Given the description of an element on the screen output the (x, y) to click on. 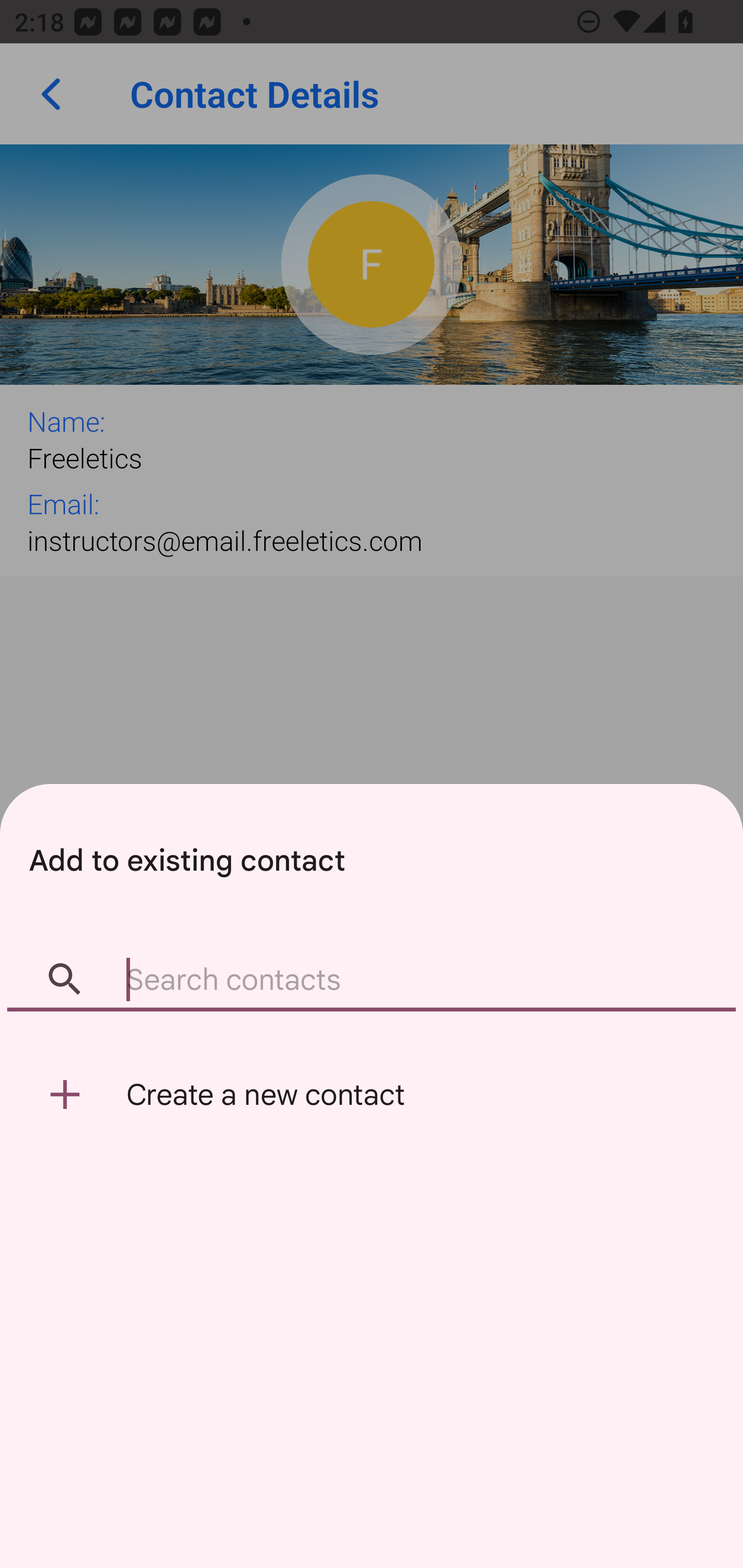
Search contacts (371, 980)
Create a new contact (371, 1094)
